Given the description of an element on the screen output the (x, y) to click on. 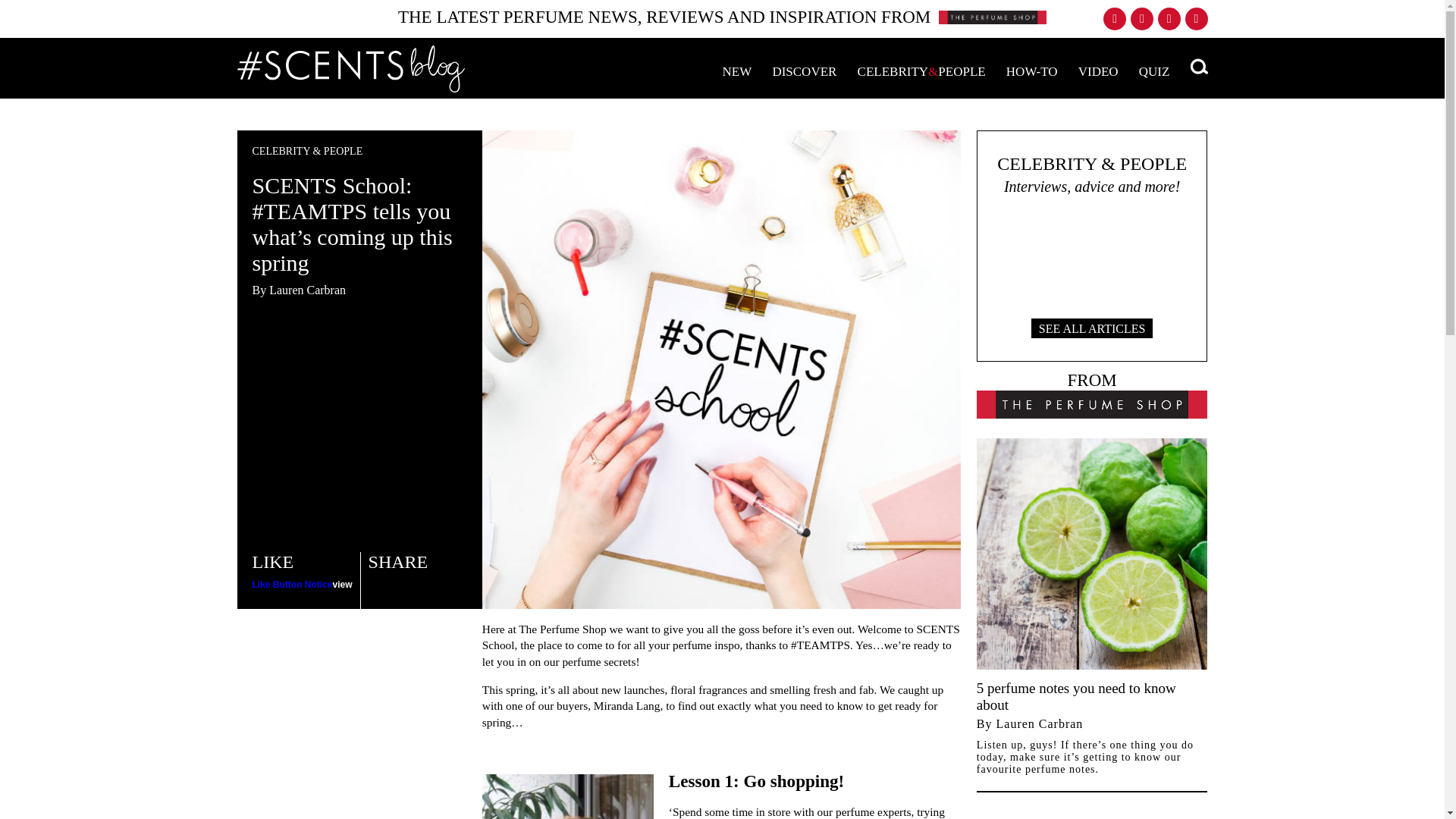
HOW-TO (1032, 71)
Like Button Notice (291, 584)
Click to view notice (342, 584)
NEW (736, 71)
DISCOVER (803, 71)
view (342, 584)
VIDEO (1098, 71)
QUIZ (1154, 71)
